Given the description of an element on the screen output the (x, y) to click on. 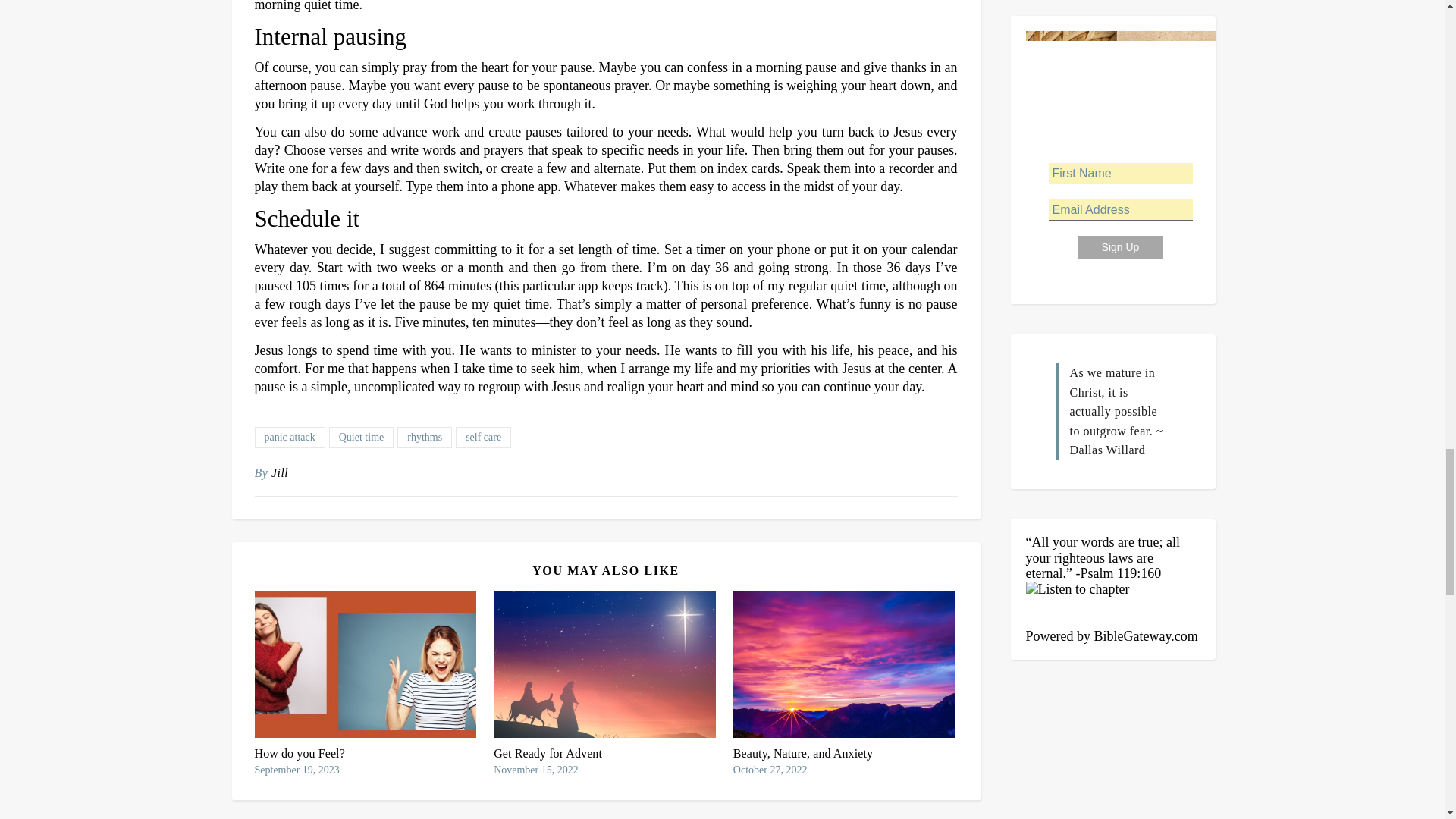
Sign Up (1120, 246)
panic attack (289, 436)
Listen to chapter (1112, 604)
Quiet time (361, 436)
